Given the description of an element on the screen output the (x, y) to click on. 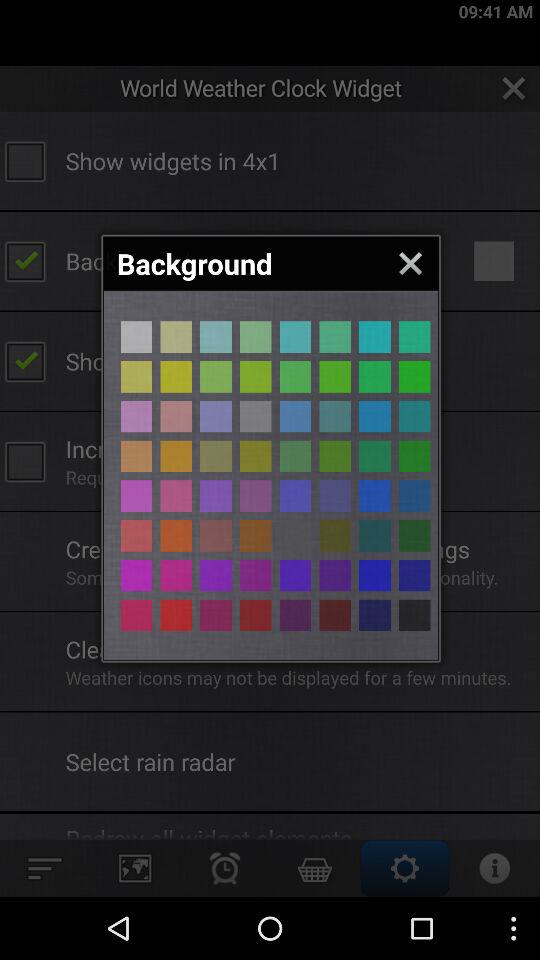
different color page (255, 575)
